Given the description of an element on the screen output the (x, y) to click on. 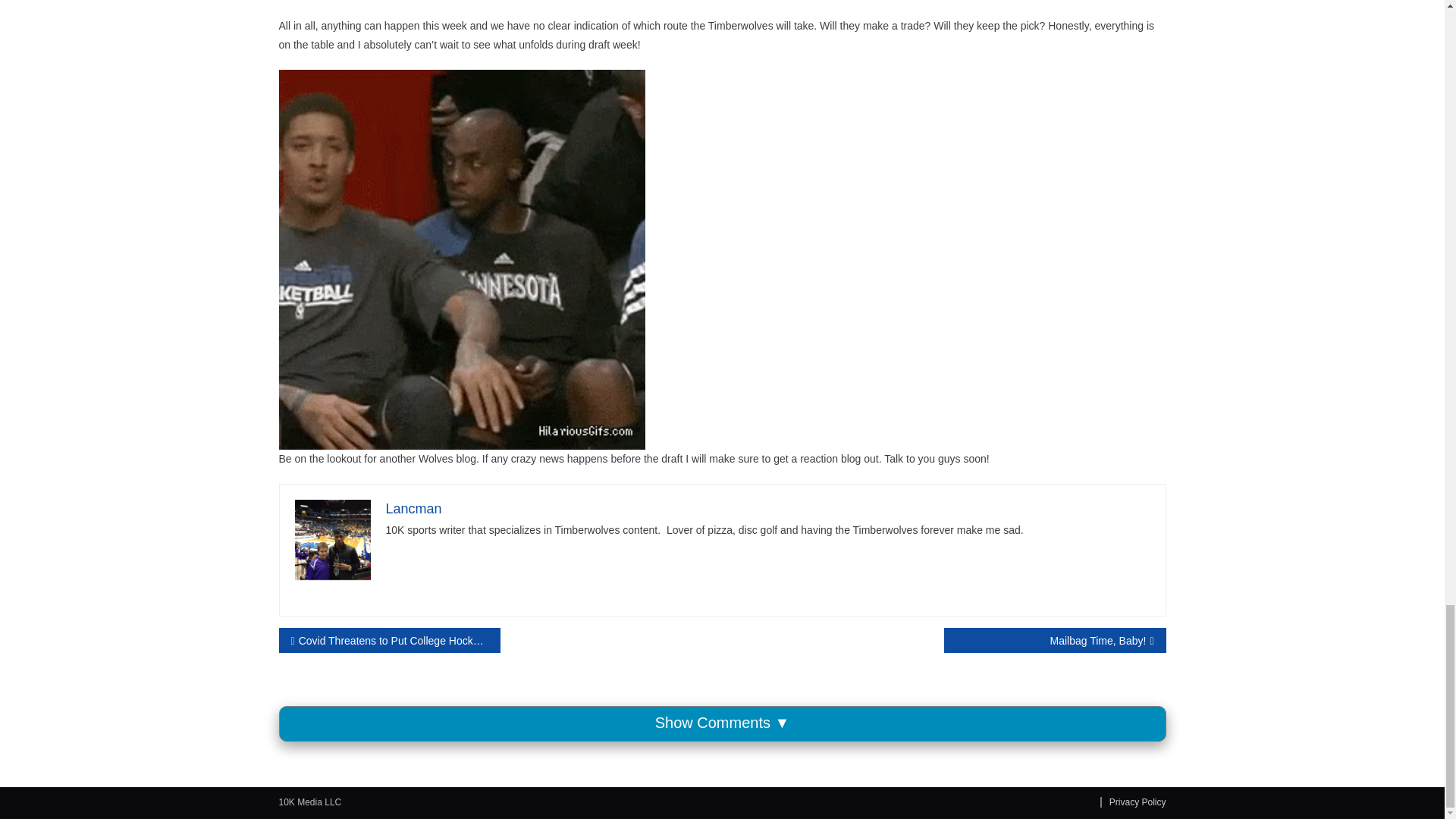
Privacy Policy (1133, 801)
Lancman (413, 508)
Mailbag Time, Baby! (1054, 640)
Covid Threatens to Put College Hockey on Life Support (389, 640)
